Given the description of an element on the screen output the (x, y) to click on. 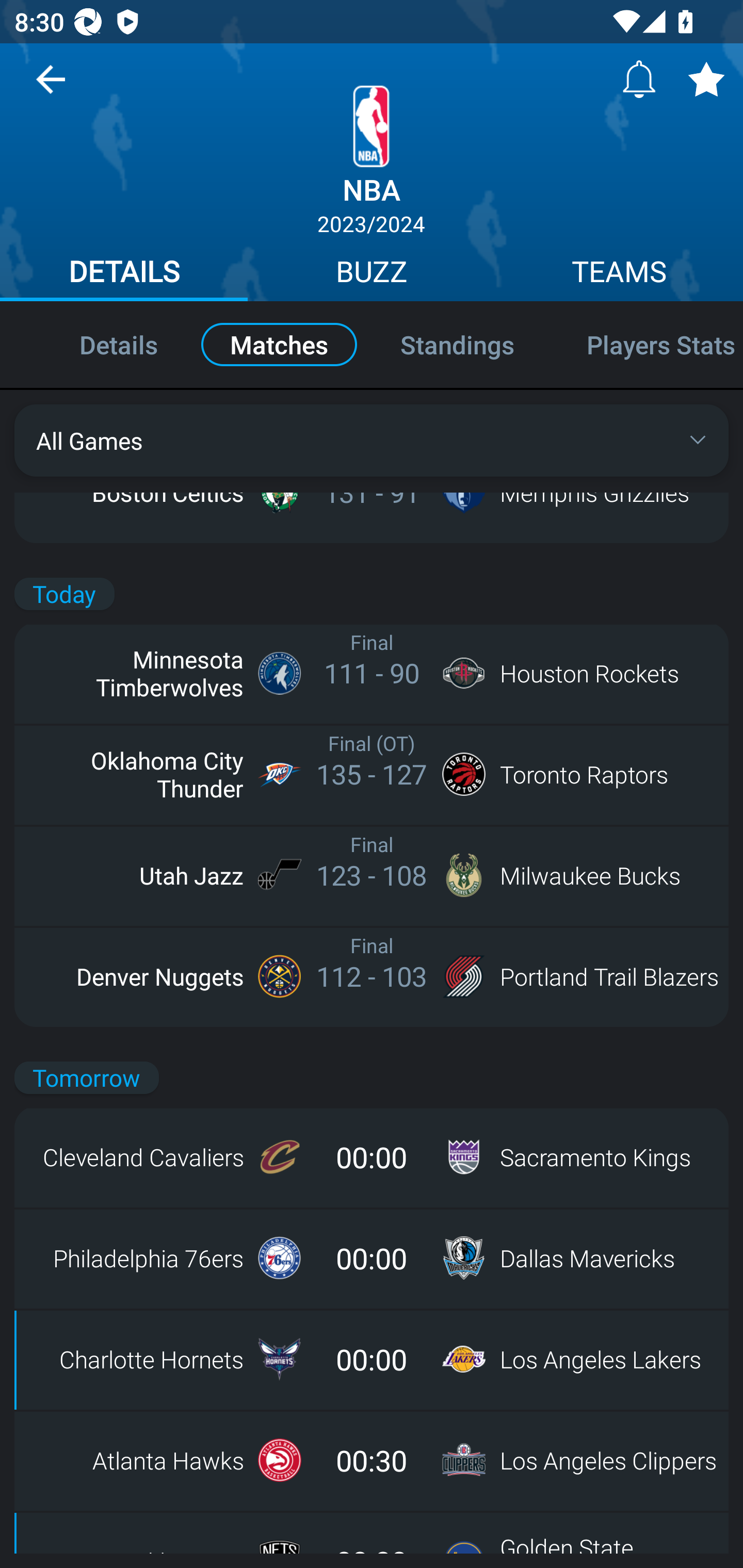
Navigate up (50, 86)
DETAILS (123, 274)
BUZZ (371, 274)
TEAMS (619, 274)
Details (96, 344)
Standings (457, 344)
Players Stats (646, 344)
All Games (371, 440)
Utah Jazz Final 123 - 108 Milwaukee Bucks (371, 874)
Cleveland Cavaliers 00:00 Sacramento Kings (371, 1157)
Philadelphia 76ers 00:00 Dallas Mavericks (371, 1258)
Charlotte Hornets 00:00 Los Angeles Lakers (371, 1359)
Atlanta Hawks 00:30 Los Angeles Clippers (371, 1459)
